Given the description of an element on the screen output the (x, y) to click on. 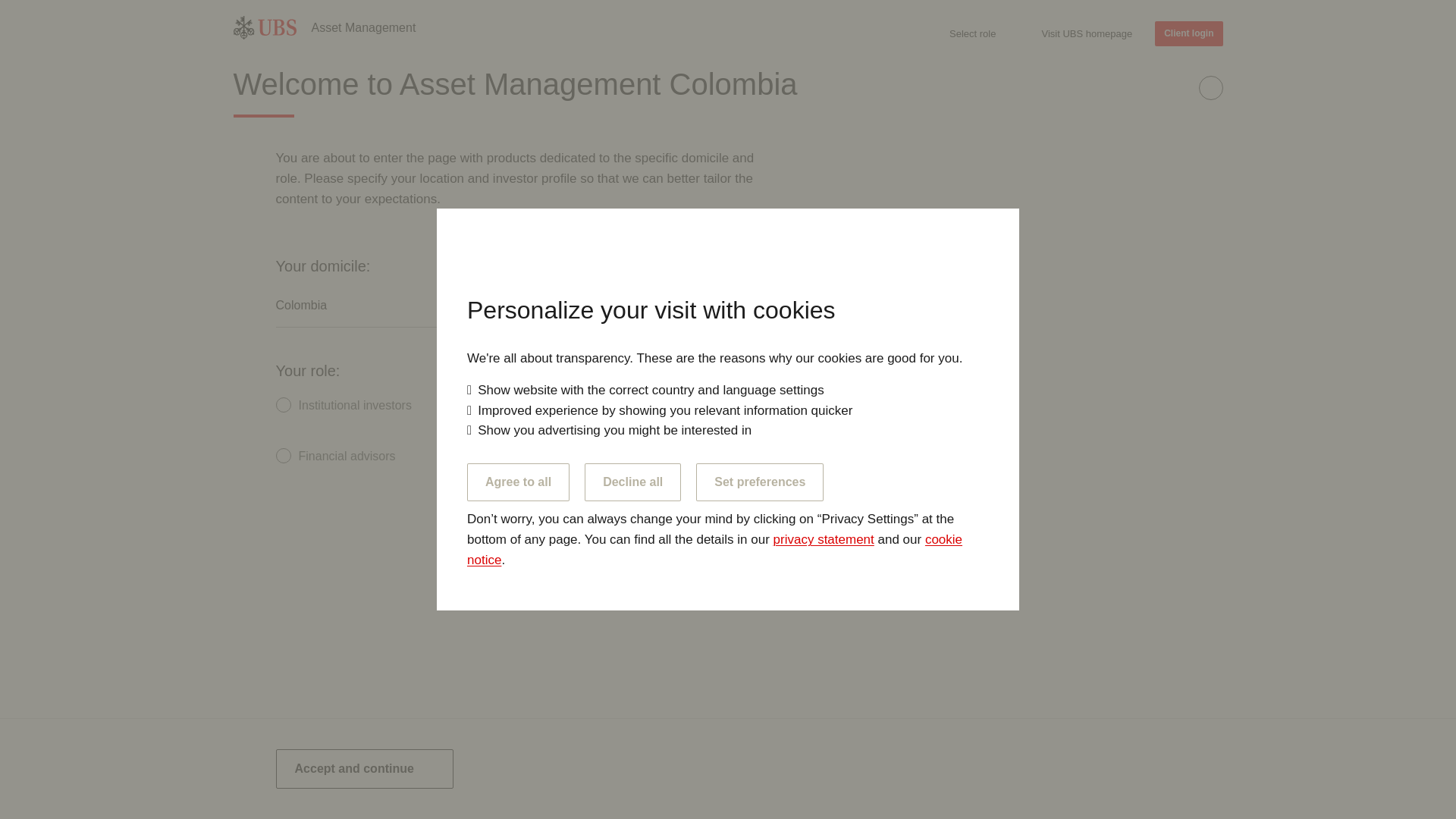
Visit UBS homepage (1086, 33)
UBS Asset Management Colombia (362, 27)
Search (1209, 67)
Asset Management (362, 27)
Select role (972, 33)
Client login (1188, 33)
